Given the description of an element on the screen output the (x, y) to click on. 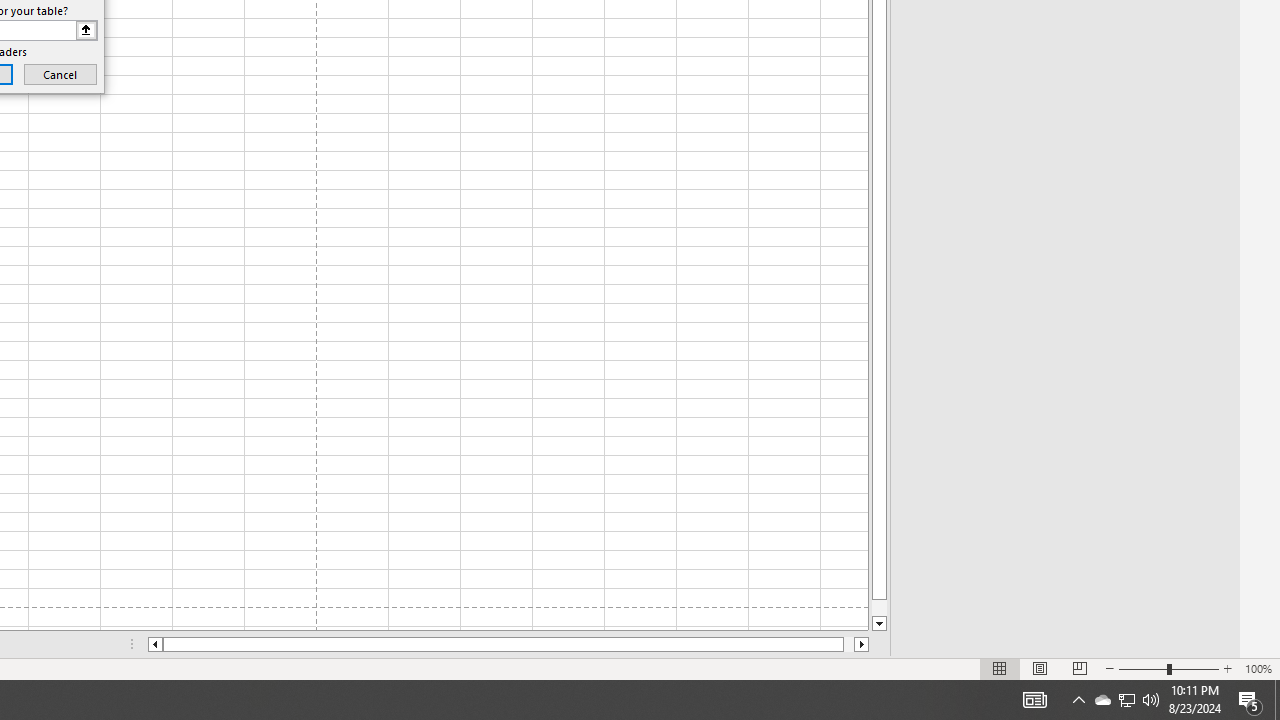
Page down (879, 607)
Page right (848, 644)
